Given the description of an element on the screen output the (x, y) to click on. 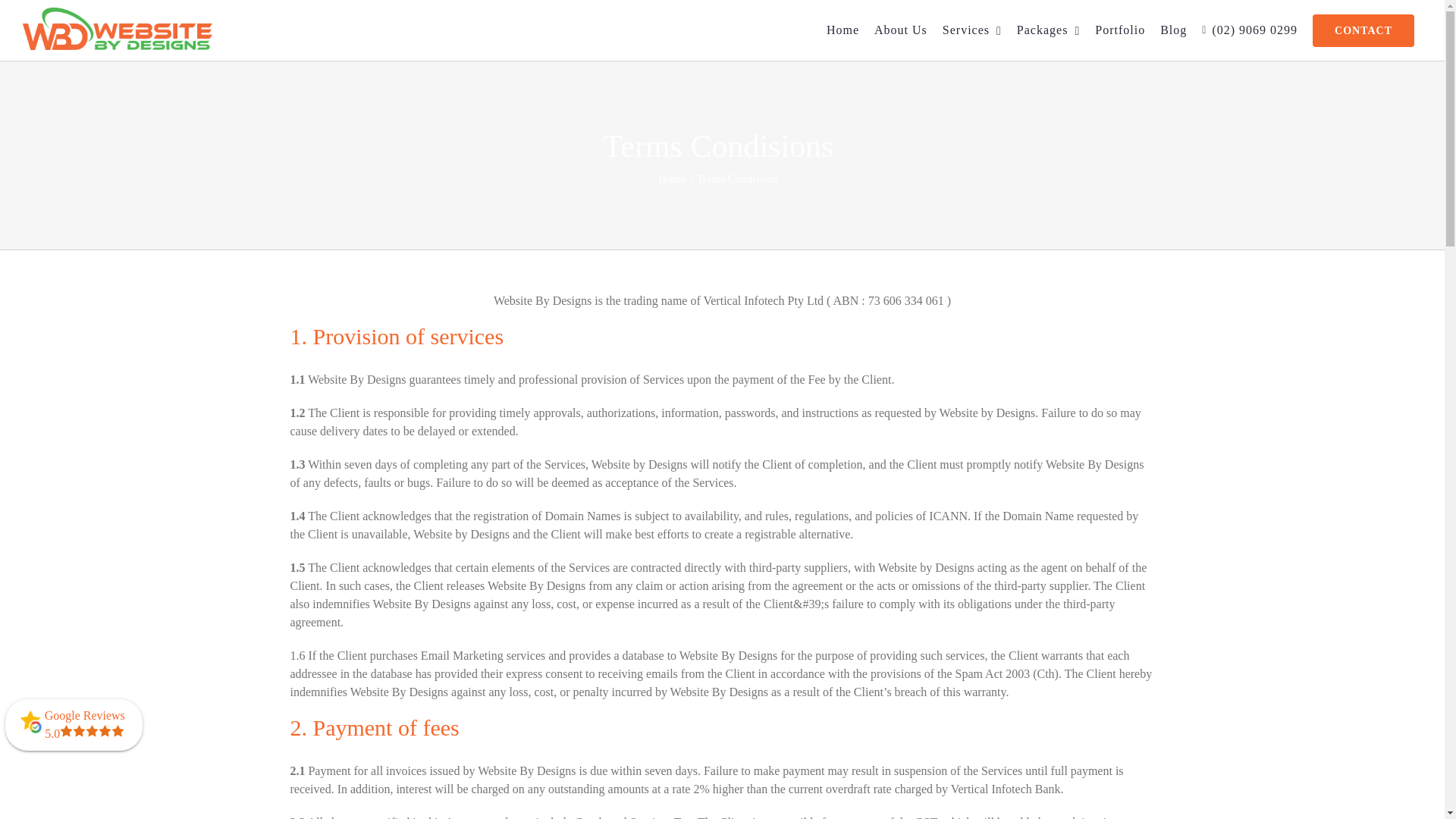
CONTACT (1363, 30)
Home (671, 178)
Portfolio (1119, 30)
Home (843, 30)
Packages (1048, 30)
About Us (901, 30)
Services (971, 30)
Blog (1173, 30)
